Given the description of an element on the screen output the (x, y) to click on. 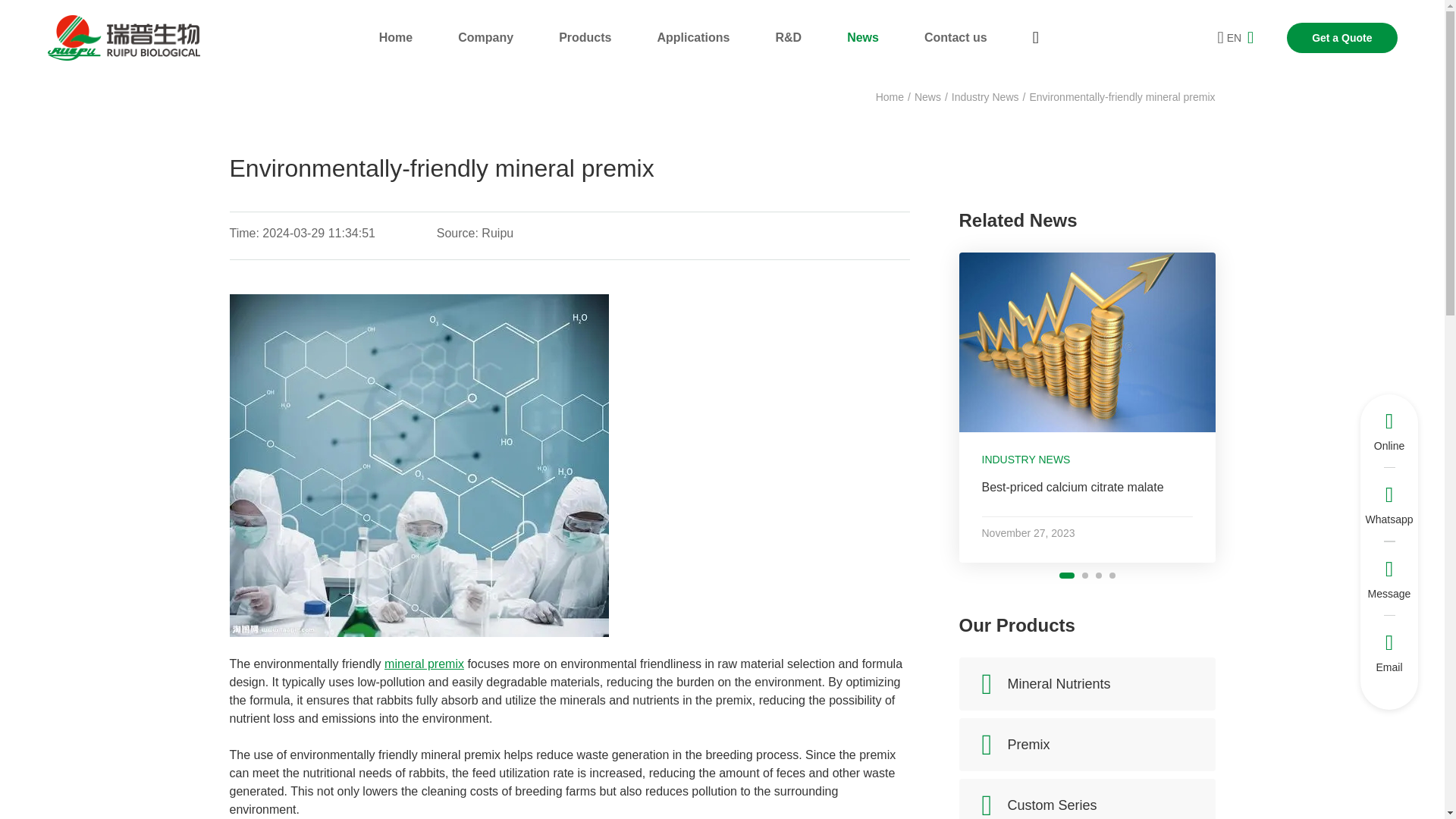
Get a Quote (1341, 37)
News (927, 96)
Home (890, 96)
Applications (692, 38)
Industry News (985, 96)
